Given the description of an element on the screen output the (x, y) to click on. 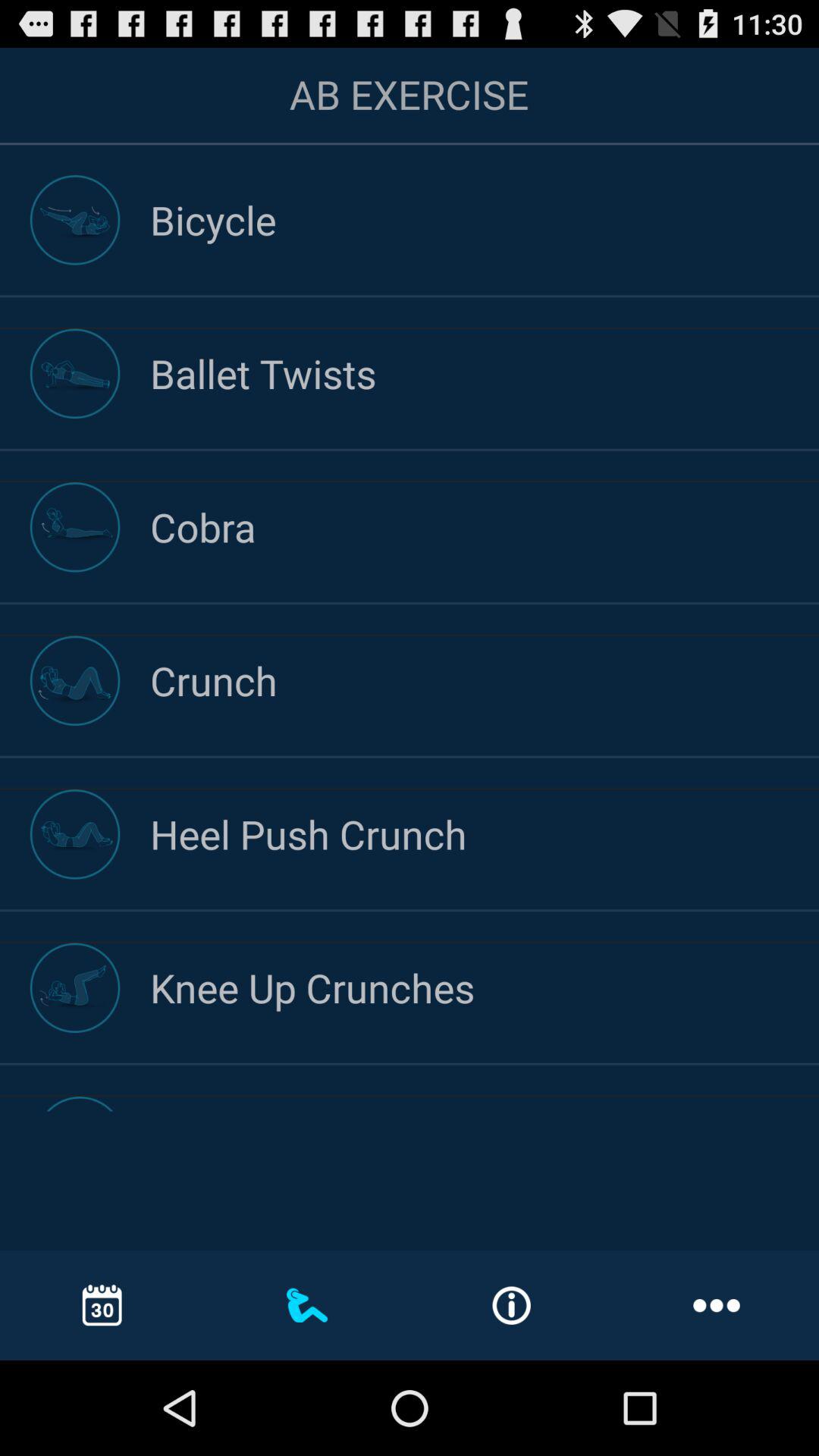
select the icon at the bottom left corner (102, 1304)
click the icon which is beside calendar icon (306, 1305)
select information icon which is on the bottom of the page (511, 1305)
click on the circle which is left hand side of heel push crunch (74, 834)
